Given the description of an element on the screen output the (x, y) to click on. 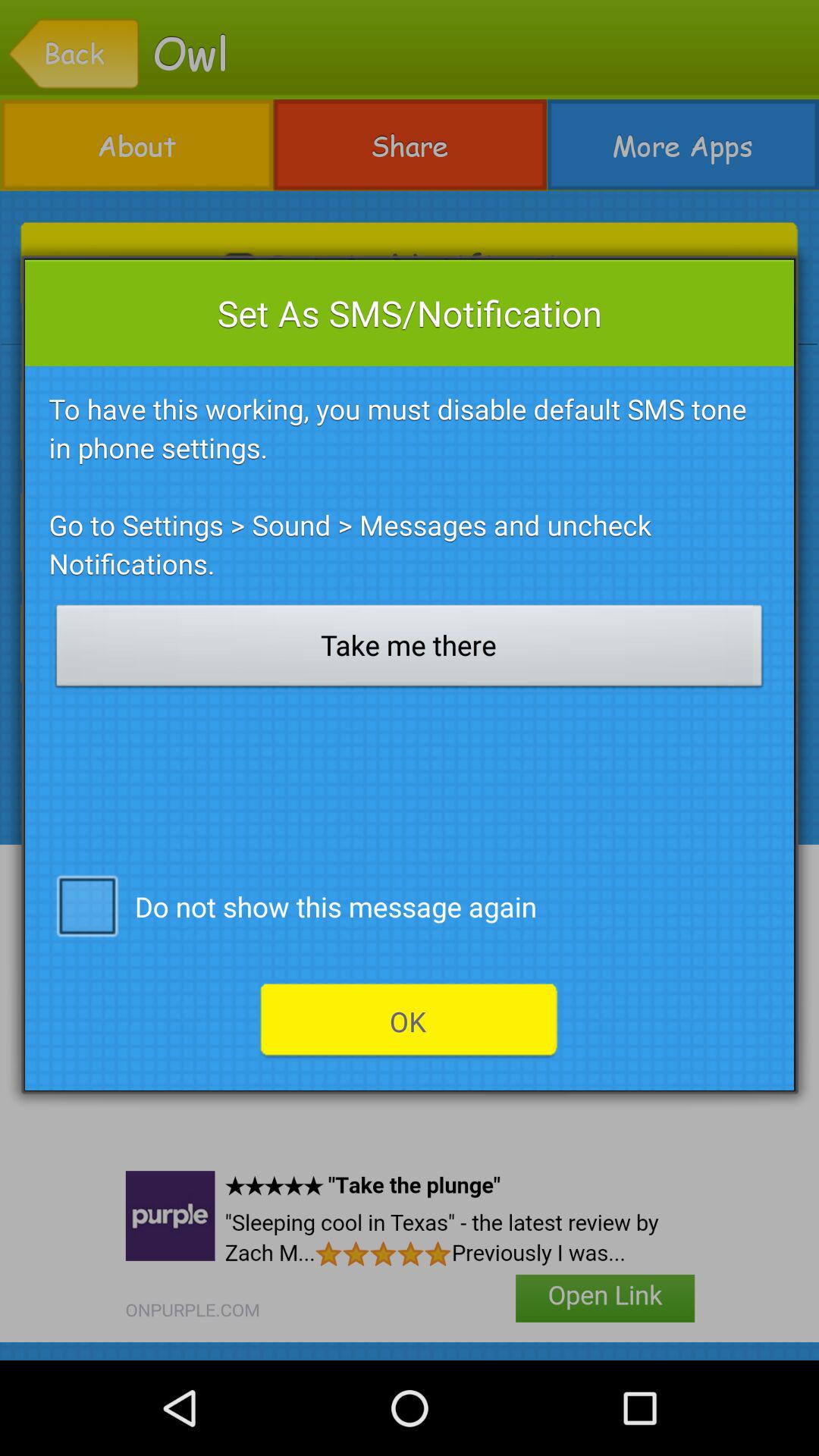
launch the app next to do not show (86, 904)
